Given the description of an element on the screen output the (x, y) to click on. 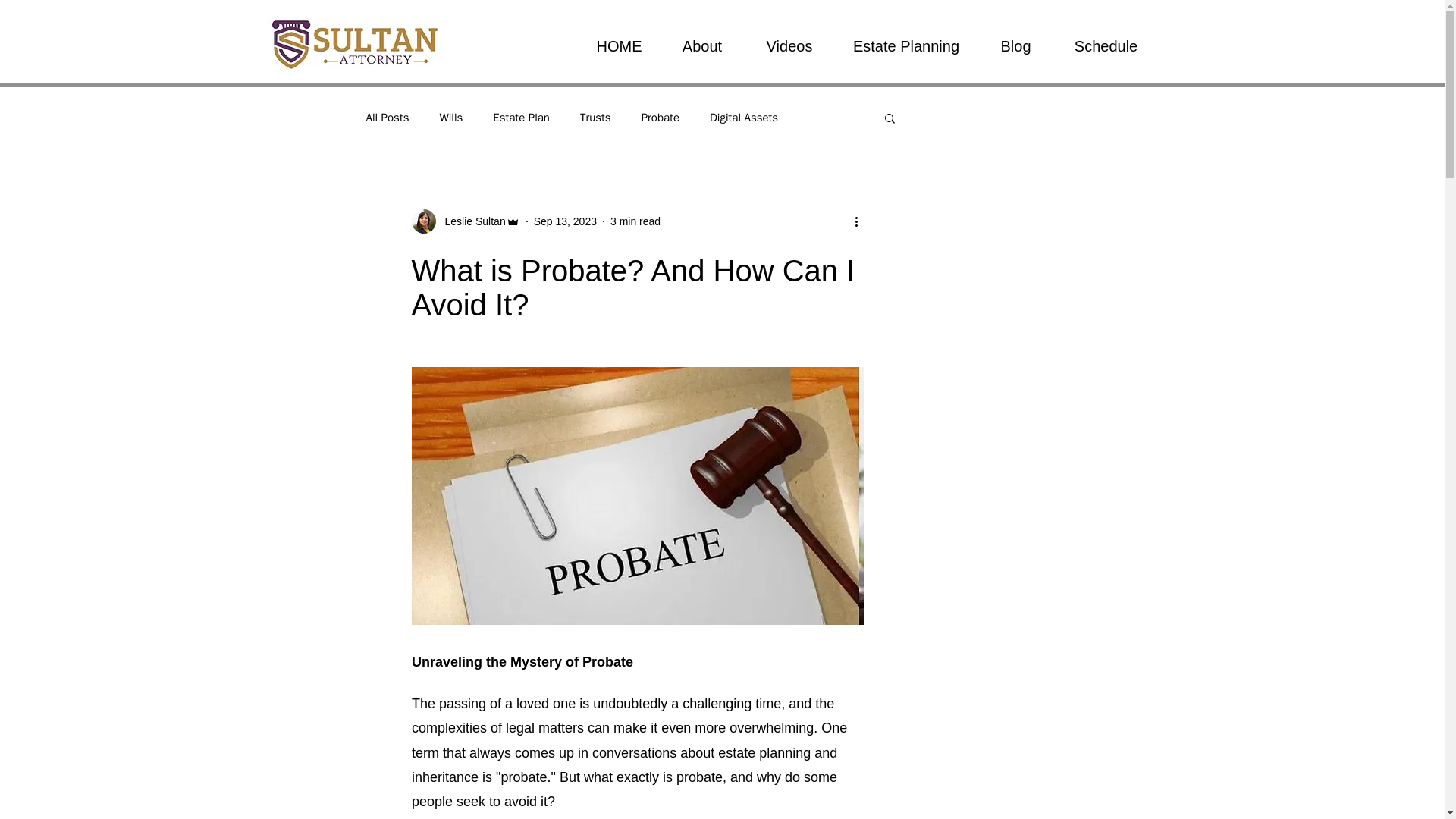
Estate Planning (905, 46)
3 min read (635, 221)
Wills (451, 117)
Sep 13, 2023 (565, 221)
Schedule (1106, 46)
Blog (1016, 46)
Leslie Sultan (470, 221)
HOME (618, 46)
Estate Plan (521, 117)
All Posts (387, 117)
